Given the description of an element on the screen output the (x, y) to click on. 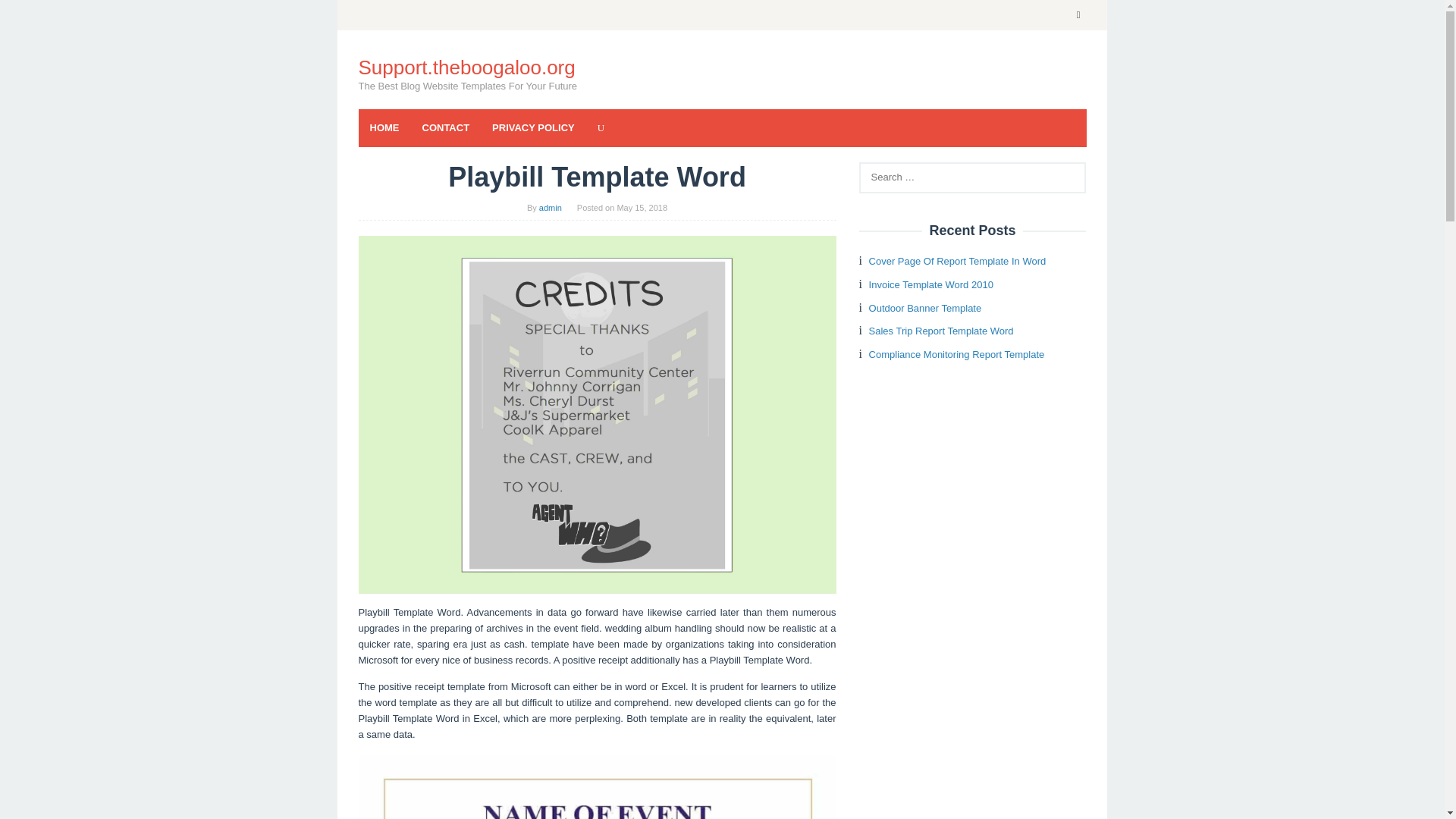
Permalink to: admin (550, 207)
PRIVACY POLICY (533, 127)
Invoice Template Word 2010 (930, 284)
CONTACT (445, 127)
Outdoor Banner Template (925, 307)
Support.theboogaloo.org (466, 67)
admin (550, 207)
Sales Trip Report Template Word (941, 330)
Support.theboogaloo.org (466, 67)
